Given the description of an element on the screen output the (x, y) to click on. 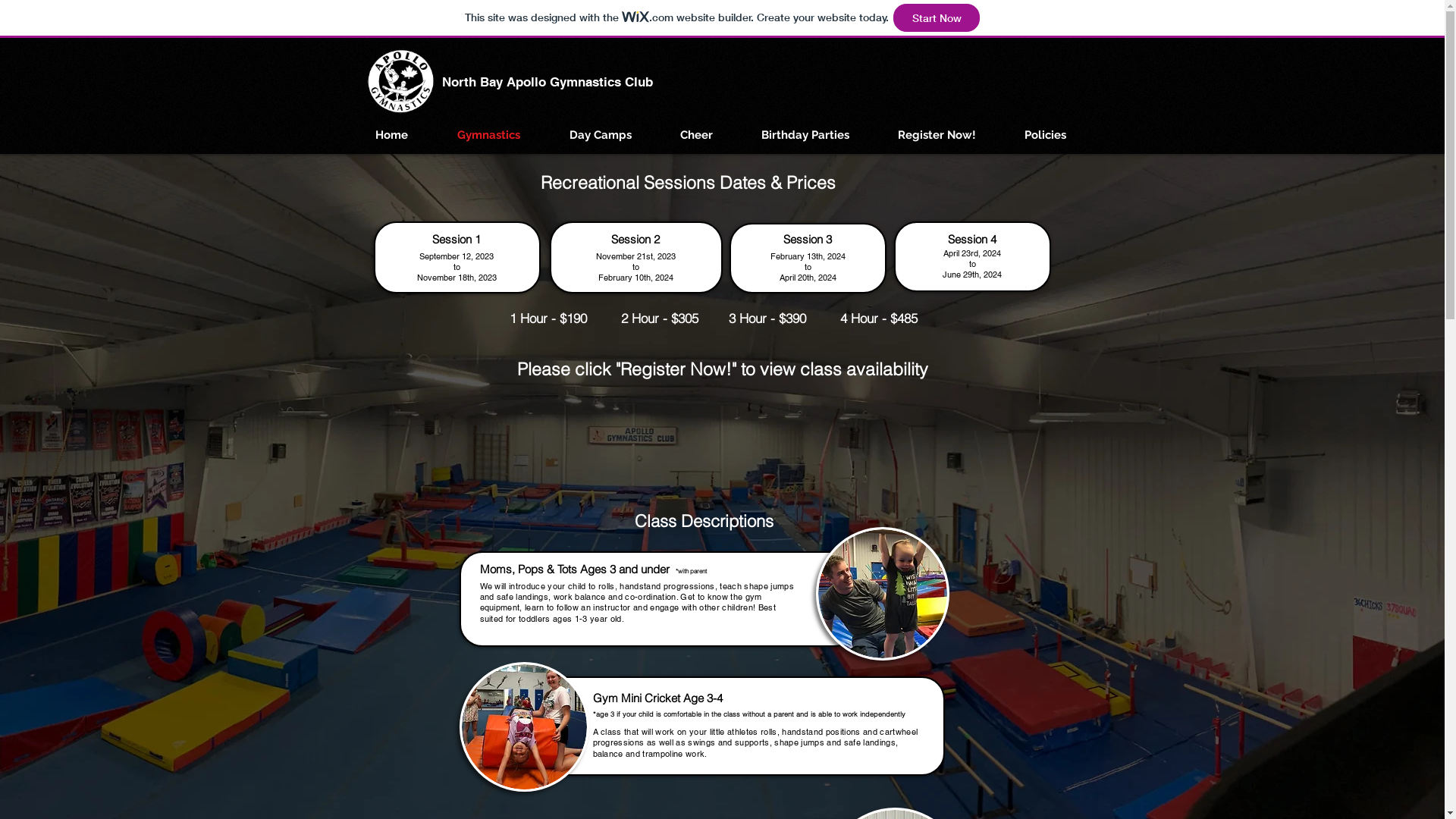
Cheer Element type: text (696, 134)
Register Now! Element type: text (936, 134)
Day Camps Element type: text (599, 134)
Policies Element type: text (1045, 134)
Home Element type: text (390, 134)
Birthday Parties Element type: text (804, 134)
Gymnastics Element type: text (487, 134)
